Given the description of an element on the screen output the (x, y) to click on. 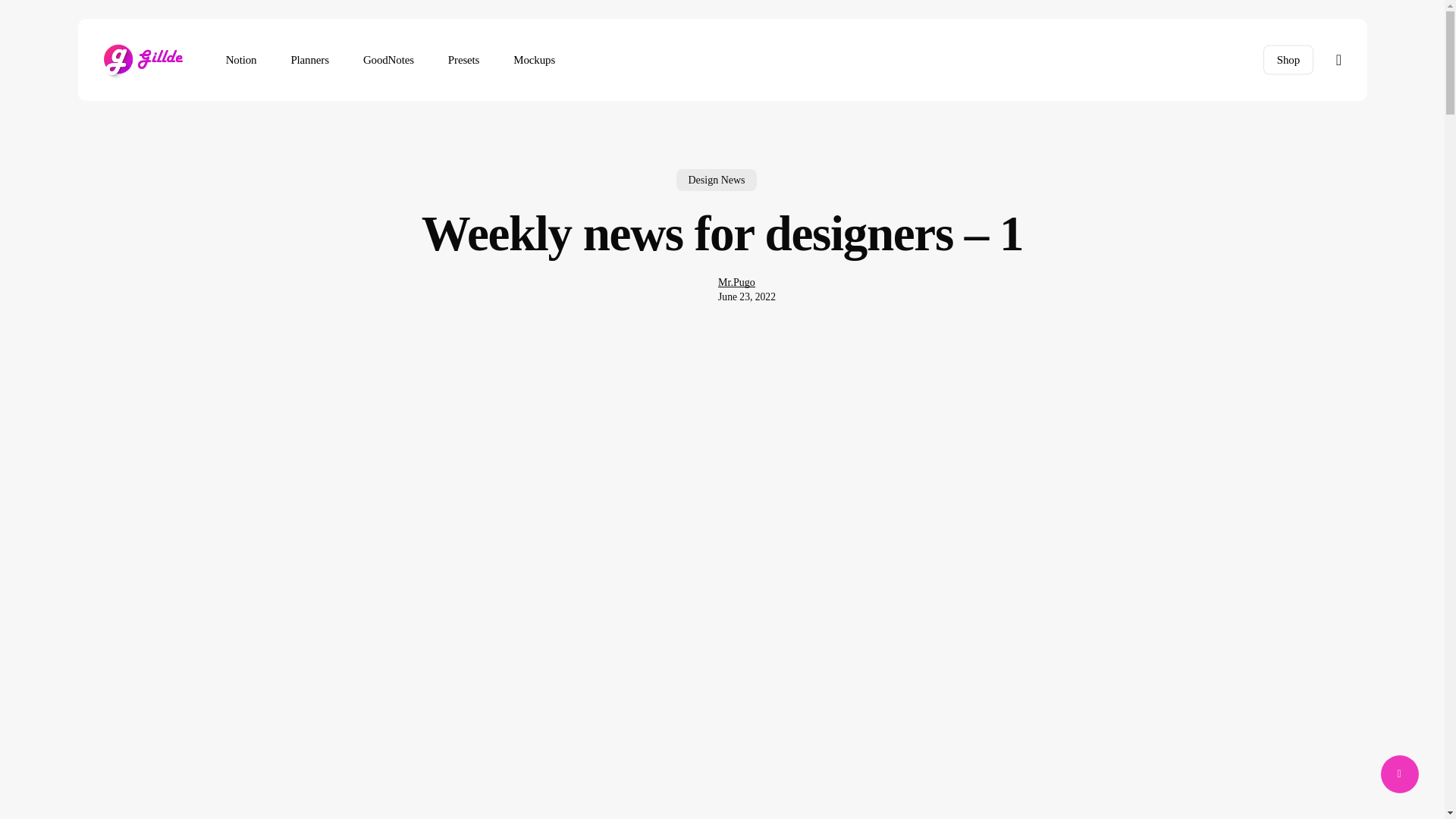
Posts by Mr.Pugo (736, 282)
Mockups (534, 59)
Notion (240, 59)
Presets (463, 59)
Planners (309, 59)
Shop (1288, 59)
search (1339, 59)
Design News (716, 185)
Mr.Pugo (736, 296)
GoodNotes (388, 59)
